Given the description of an element on the screen output the (x, y) to click on. 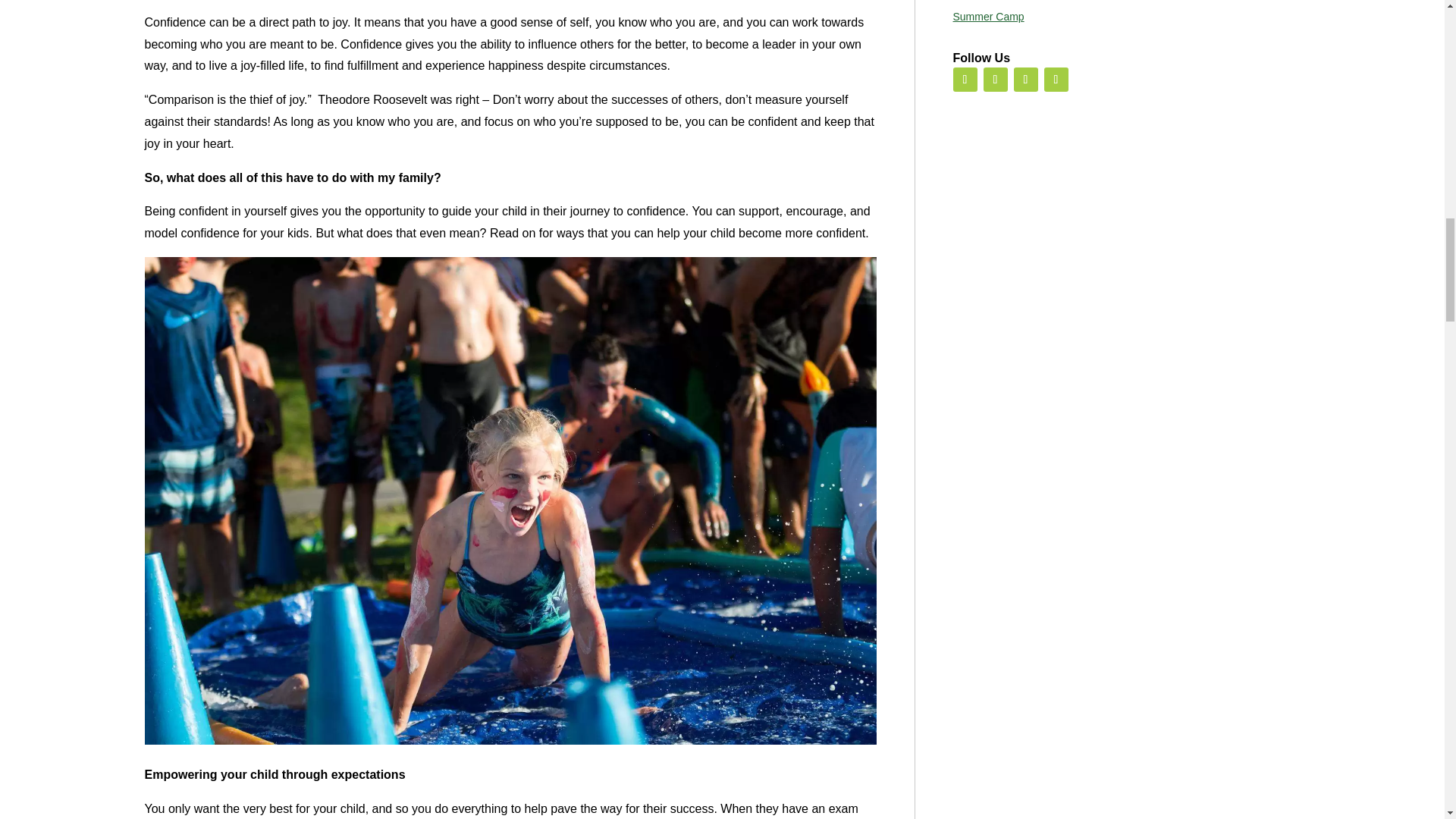
Follow on Instagram (1024, 79)
Follow on Facebook (964, 79)
Follow on Youtube (1055, 79)
Summer Camp (987, 16)
Follow on X (994, 79)
